Given the description of an element on the screen output the (x, y) to click on. 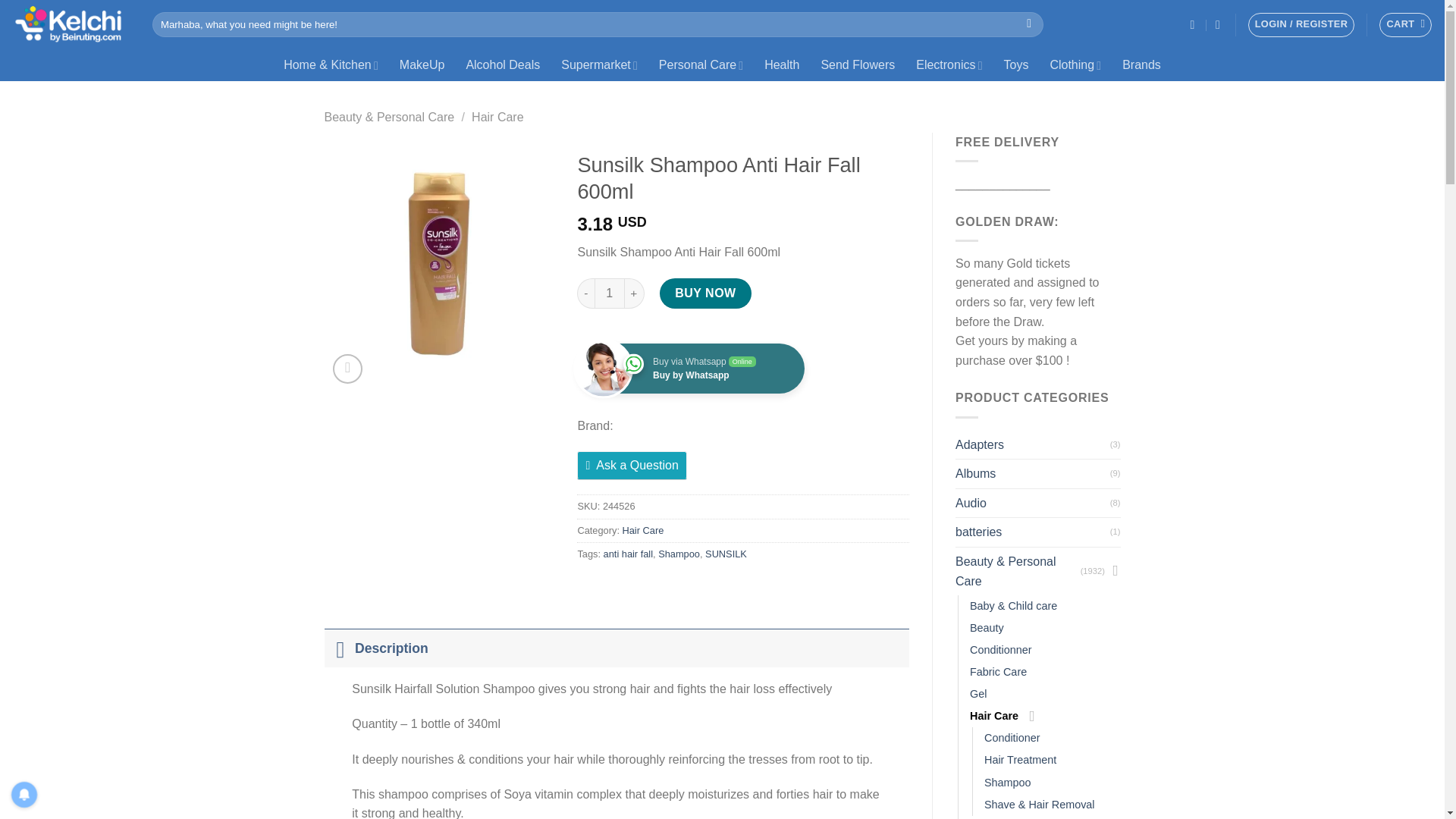
CART (1404, 24)
Cart (1404, 24)
MakeUp (421, 65)
1 (609, 293)
Alcohol Deals (502, 65)
Search (1029, 24)
Supermarket (598, 65)
Zoom (347, 368)
Personal Care (700, 65)
Sunsilk Shampoo Anti Hair Fall 600ml (439, 259)
Qty (609, 293)
